Given the description of an element on the screen output the (x, y) to click on. 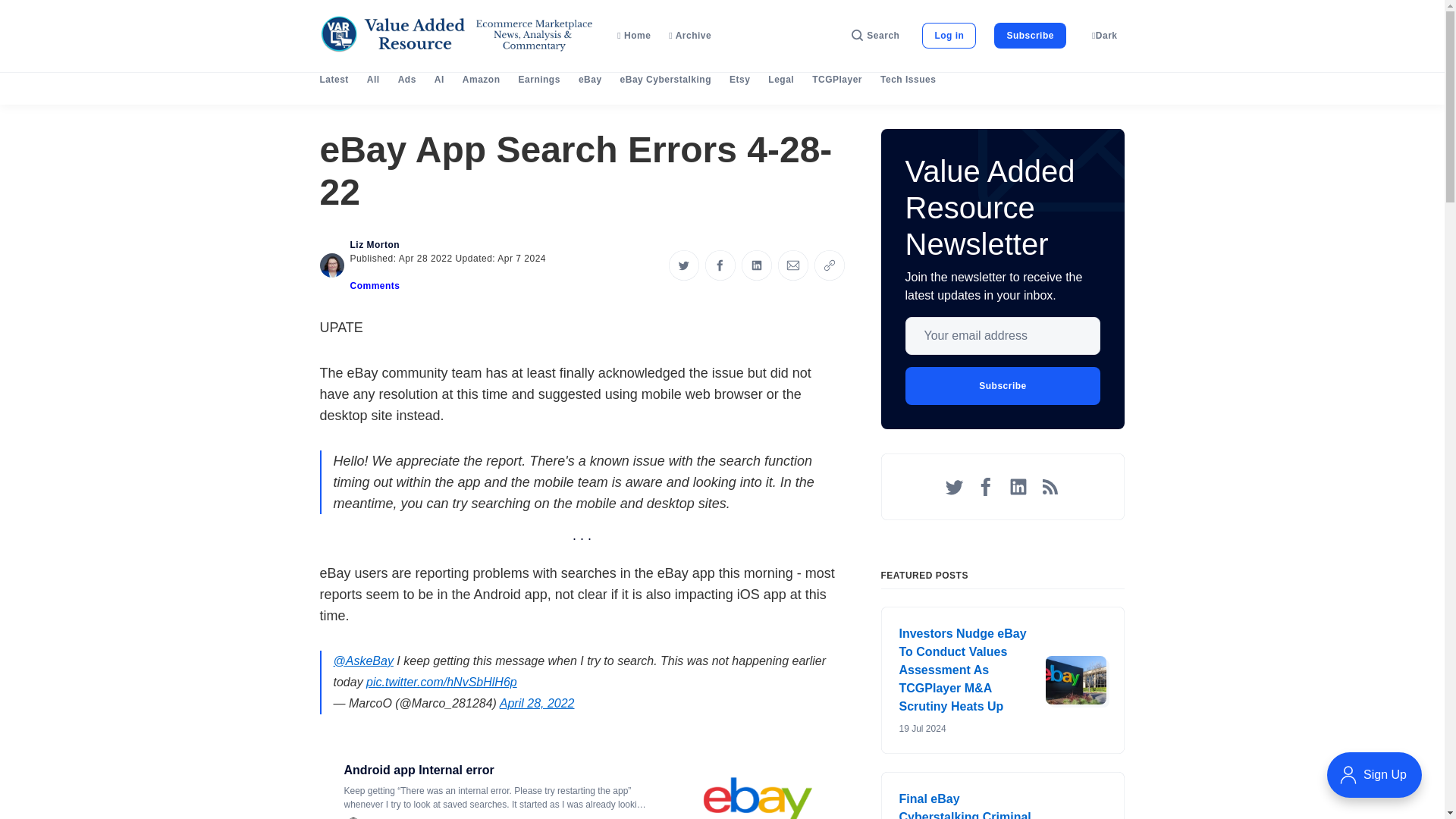
Search (875, 35)
April 28, 2022 (537, 703)
Liz Morton (375, 244)
Share on Facebook (719, 265)
eBay Cyberstalking (665, 79)
Share on LinkedIn (756, 265)
Tech Issues (908, 79)
Copy link (828, 265)
Subscribe (1029, 35)
Comments (375, 285)
